Given the description of an element on the screen output the (x, y) to click on. 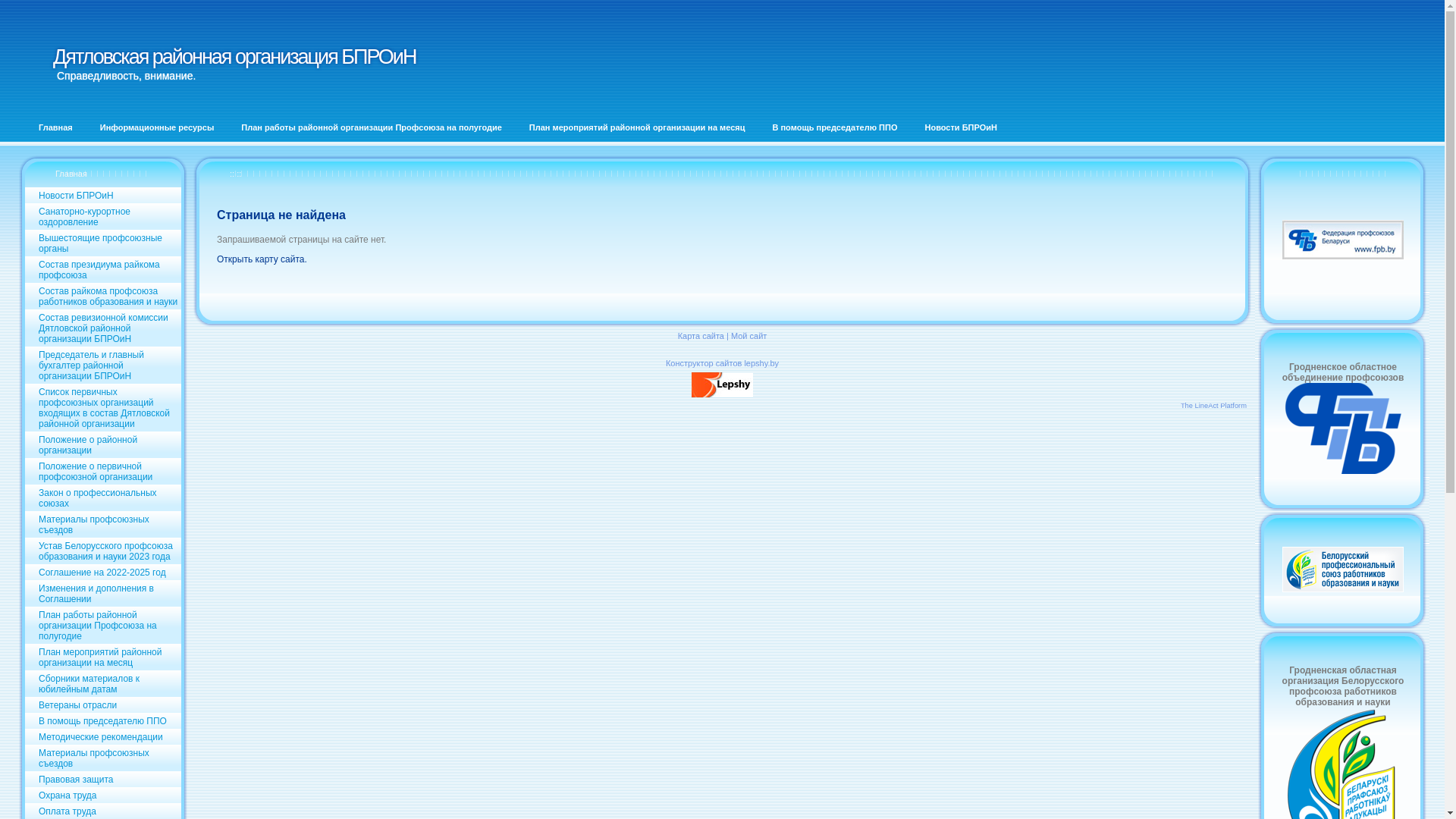
The LineAct Platform Element type: text (1213, 405)
